Given the description of an element on the screen output the (x, y) to click on. 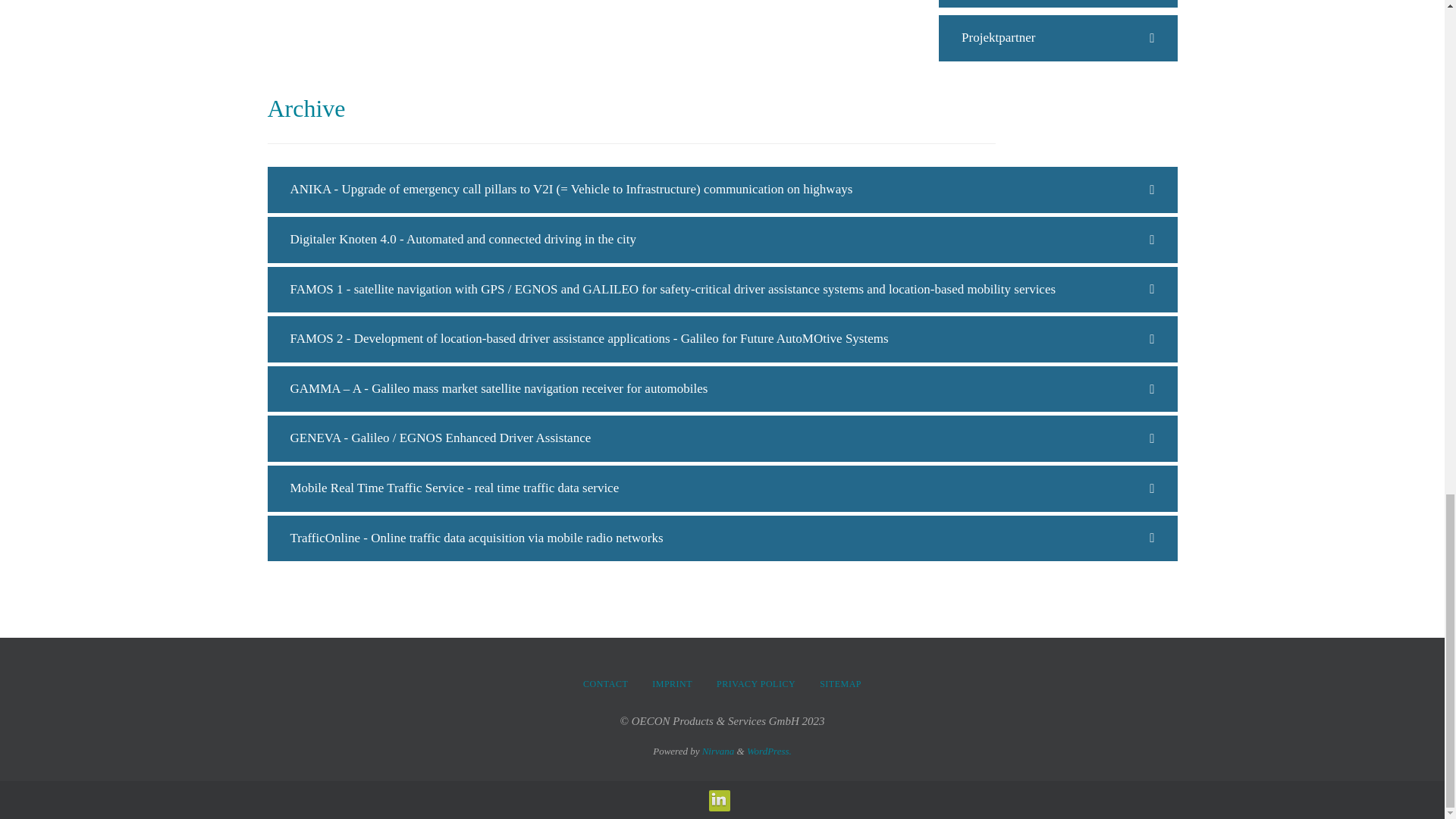
Semantic Personal Publishing Platform (769, 750)
Nirvana Theme by Cryout Creations (718, 750)
LinkedIn (717, 799)
